Given the description of an element on the screen output the (x, y) to click on. 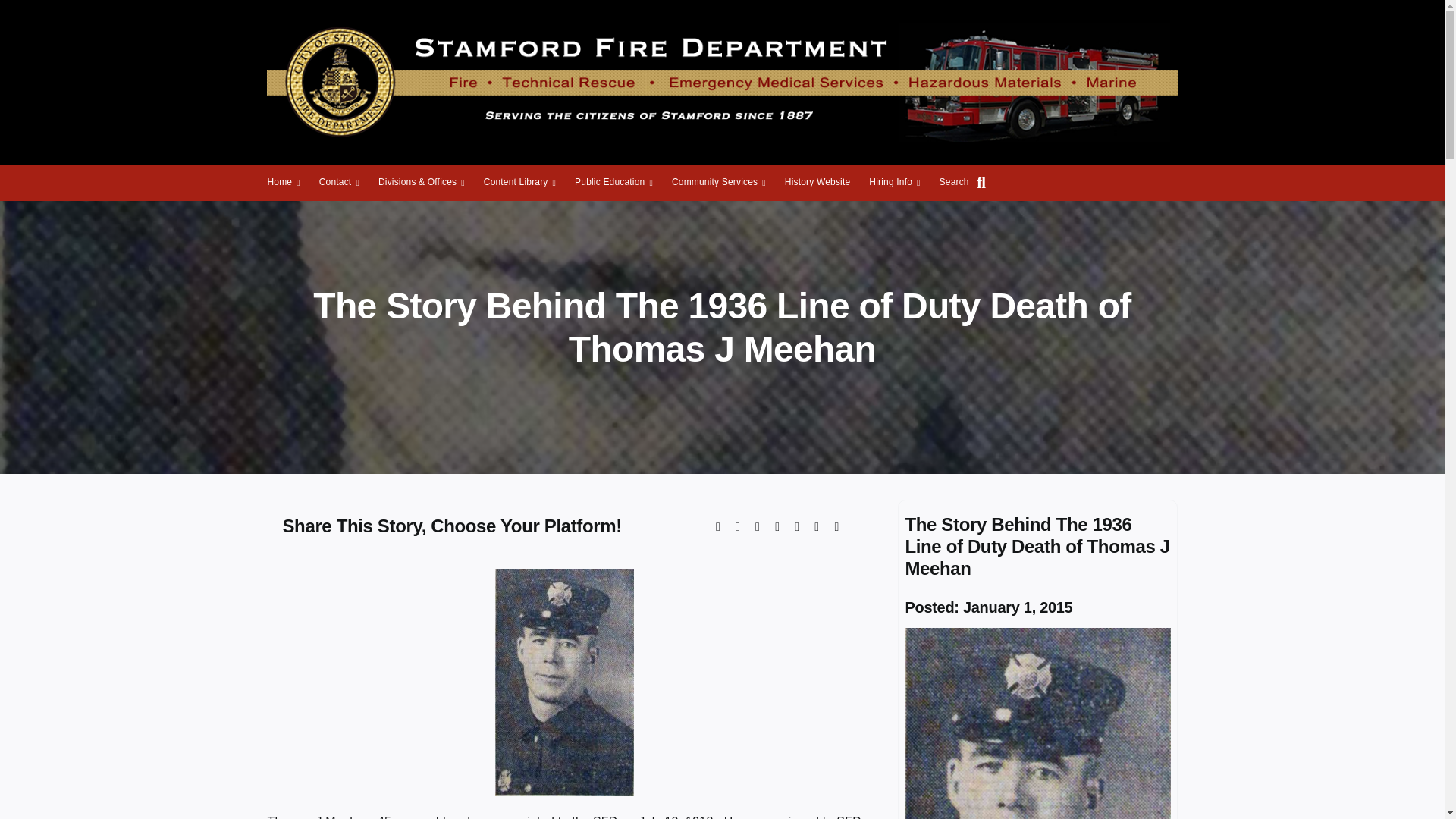
WhatsApp (796, 526)
Home (282, 182)
X (738, 526)
Search (966, 182)
Contact (338, 182)
FF Mehan (1037, 723)
Email (836, 526)
Content Library (519, 182)
Reddit (757, 526)
LinkedIn (777, 526)
Facebook (717, 526)
Pinterest (816, 526)
